Given the description of an element on the screen output the (x, y) to click on. 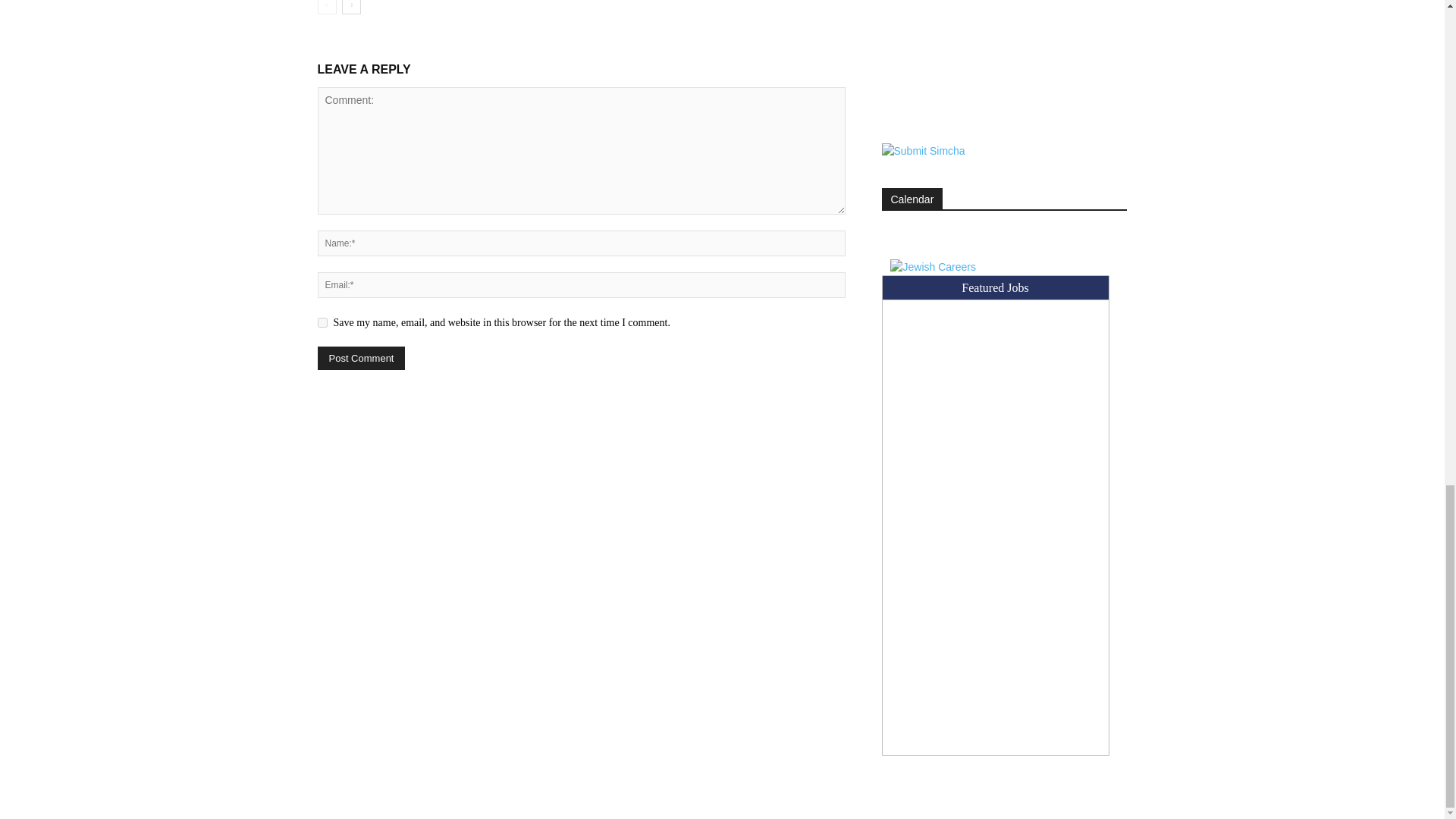
yes (321, 322)
Post Comment (360, 358)
